Given the description of an element on the screen output the (x, y) to click on. 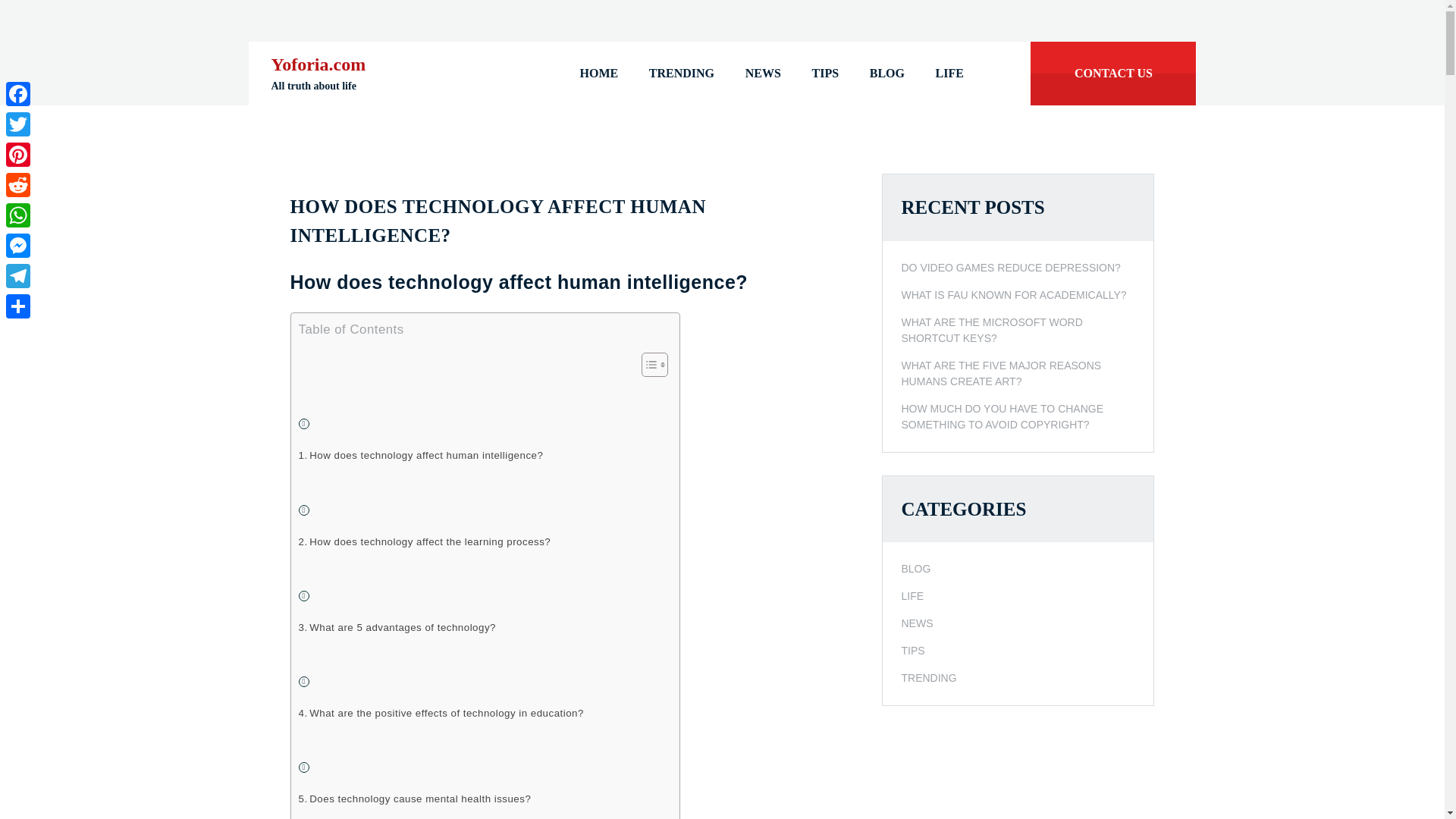
Does technology cause mental health issues? (414, 798)
How does technology affect the learning process? (424, 541)
What are the positive effects of technology in education? (440, 713)
How does technology affect human intelligence? (420, 455)
Yoforia.com (318, 64)
NEWS (762, 73)
CONTACT US (1112, 73)
BLOG (886, 73)
How does technology affect the learning process? (424, 541)
HOME (598, 73)
What are the positive effects of technology in education? (440, 713)
Does technology cause mental health issues? (414, 798)
TIPS (824, 73)
What are 5 advantages of technology? (397, 627)
LIFE (949, 73)
